Given the description of an element on the screen output the (x, y) to click on. 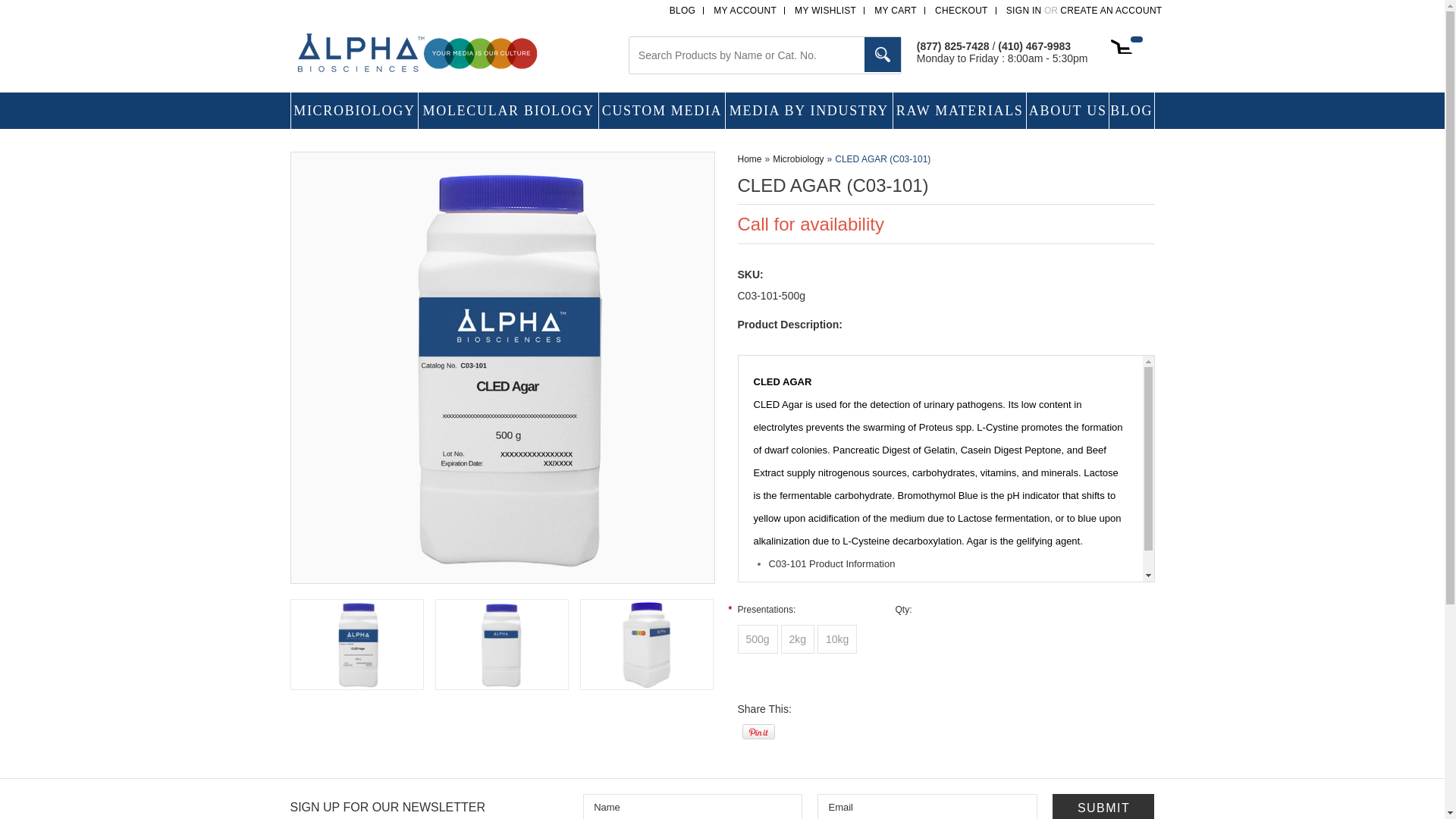
Image 2 (501, 644)
Image 1 (356, 644)
CREATE AN ACCOUNT (1110, 9)
Image 1 (502, 367)
Image 3 (646, 644)
SIGN IN (1024, 9)
MY ACCOUNT (744, 9)
MY CART (896, 9)
Submit (1103, 806)
Name (692, 806)
CHECKOUT (961, 9)
Email (926, 806)
MY WISHLIST (825, 9)
Search (882, 54)
View Cart (1131, 46)
